Given the description of an element on the screen output the (x, y) to click on. 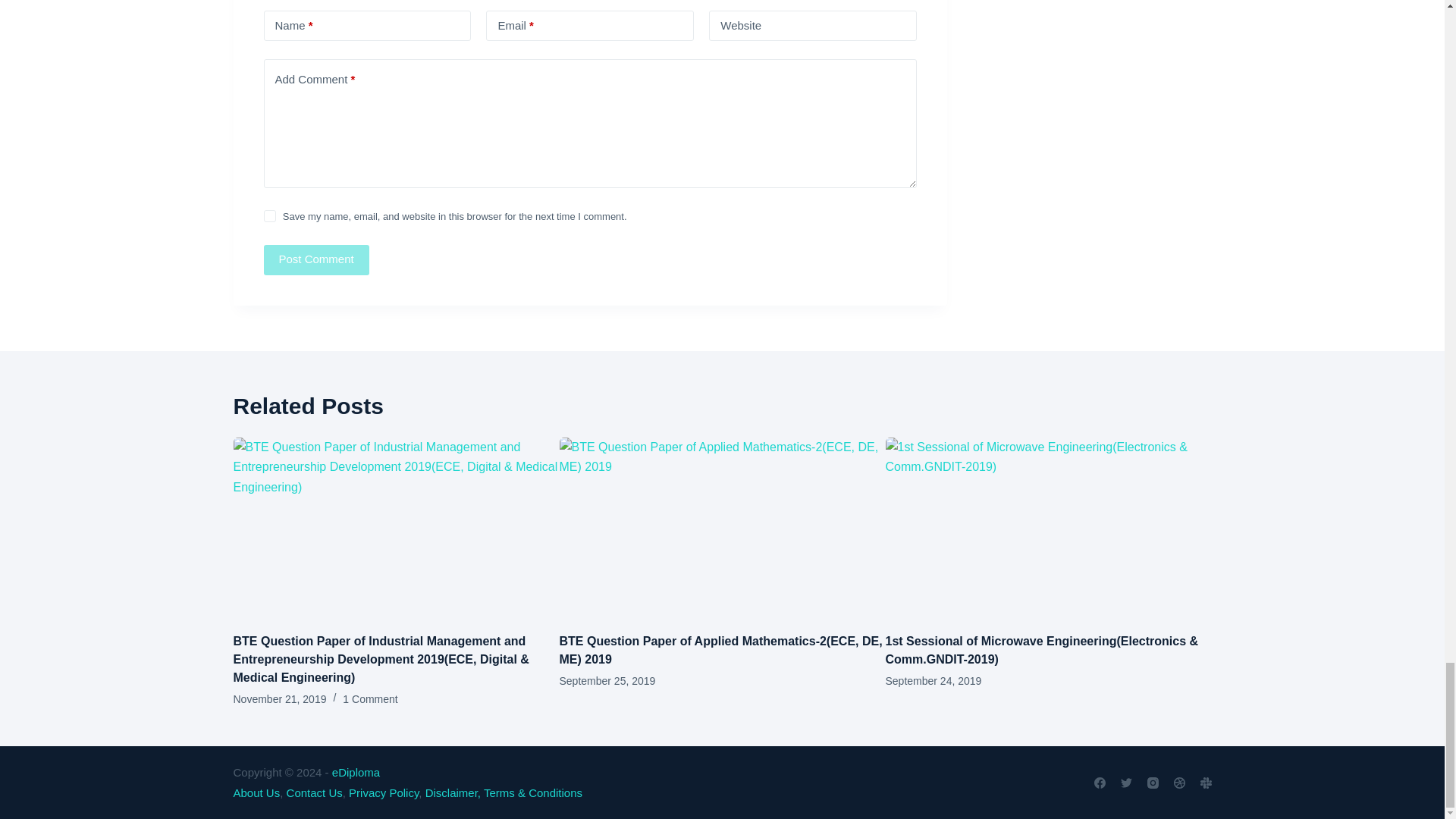
yes (269, 215)
